Given the description of an element on the screen output the (x, y) to click on. 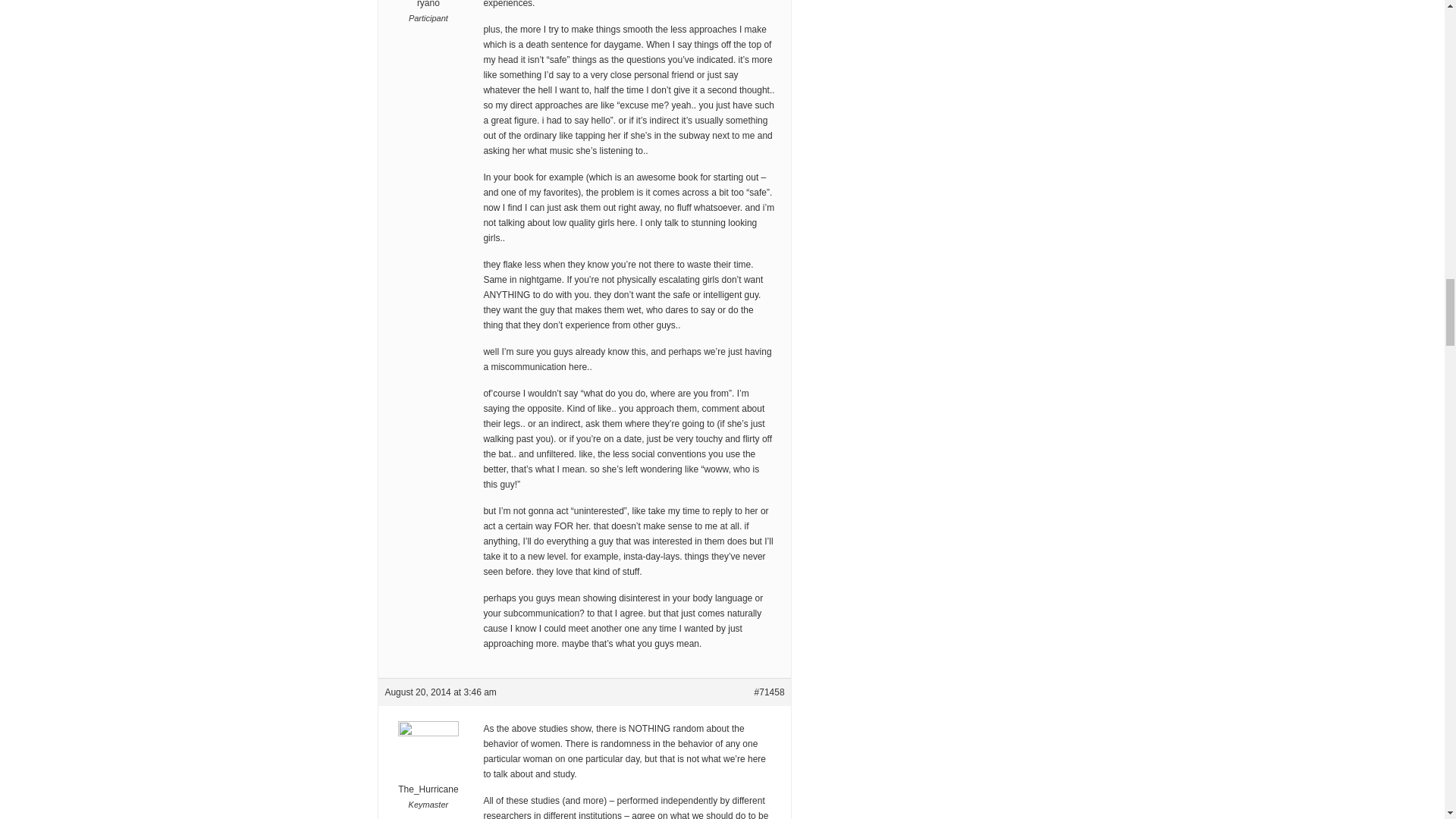
View ryano's profile (427, 5)
ryano (427, 5)
